Given the description of an element on the screen output the (x, y) to click on. 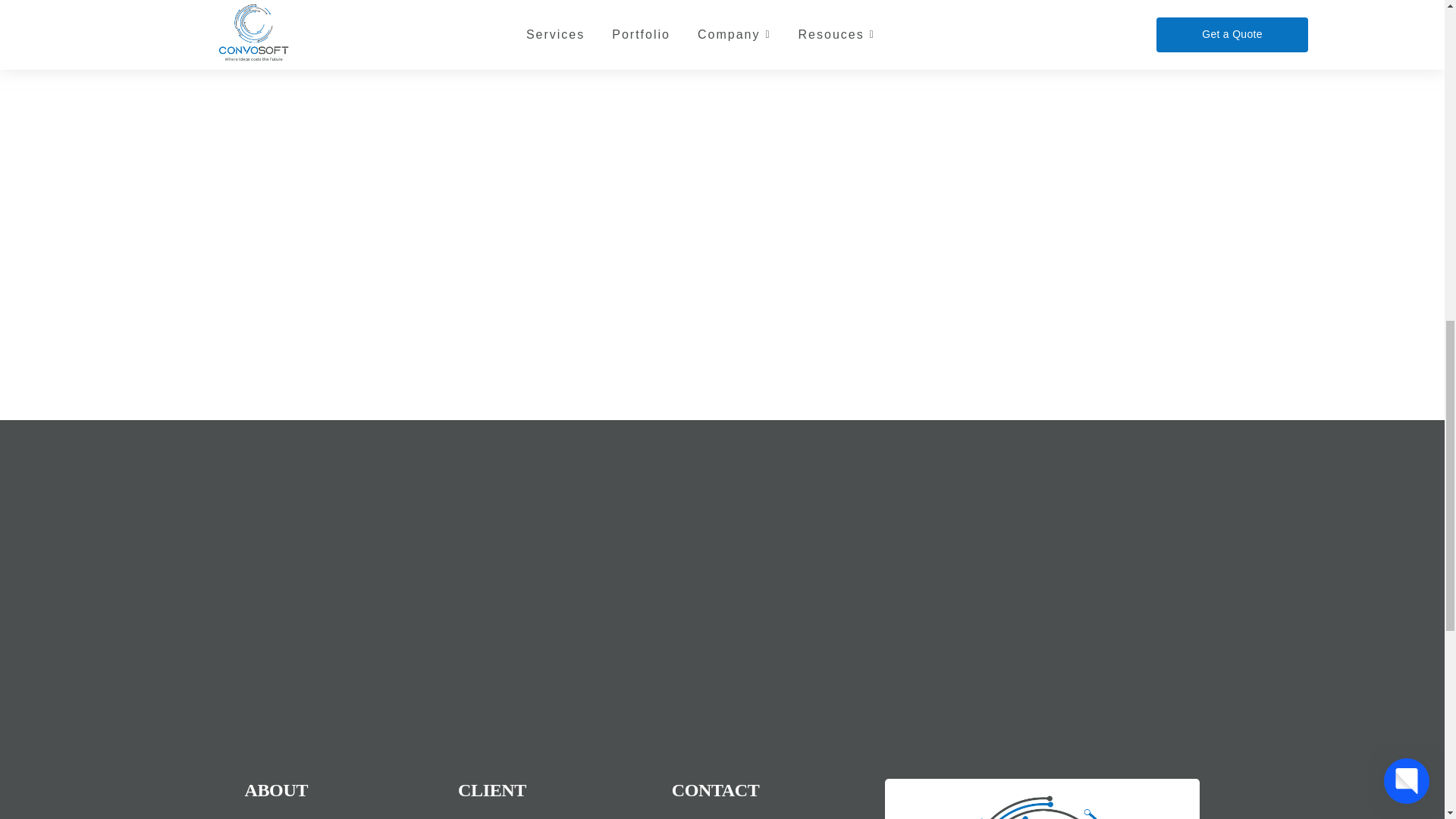
About Me (343, 816)
Phone Number (770, 816)
Past Clients (557, 816)
